Given the description of an element on the screen output the (x, y) to click on. 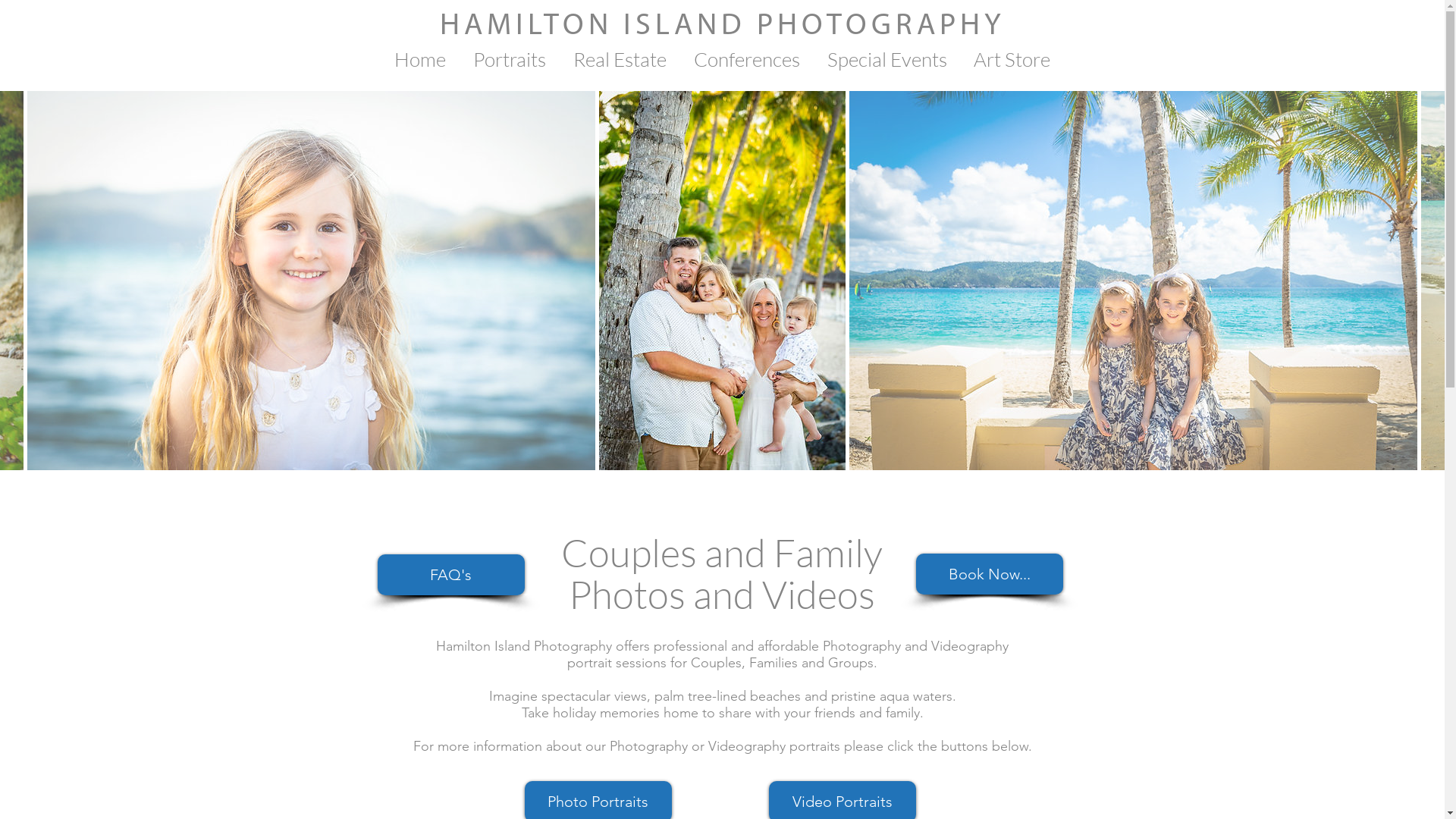
Conferences Element type: text (745, 59)
Home Element type: text (419, 59)
Real Estate Element type: text (619, 59)
Special Events Element type: text (886, 59)
Art Store Element type: text (1011, 59)
Book Now... Element type: text (989, 573)
FAQ's Element type: text (450, 574)
Portraits Element type: text (509, 59)
